Given the description of an element on the screen output the (x, y) to click on. 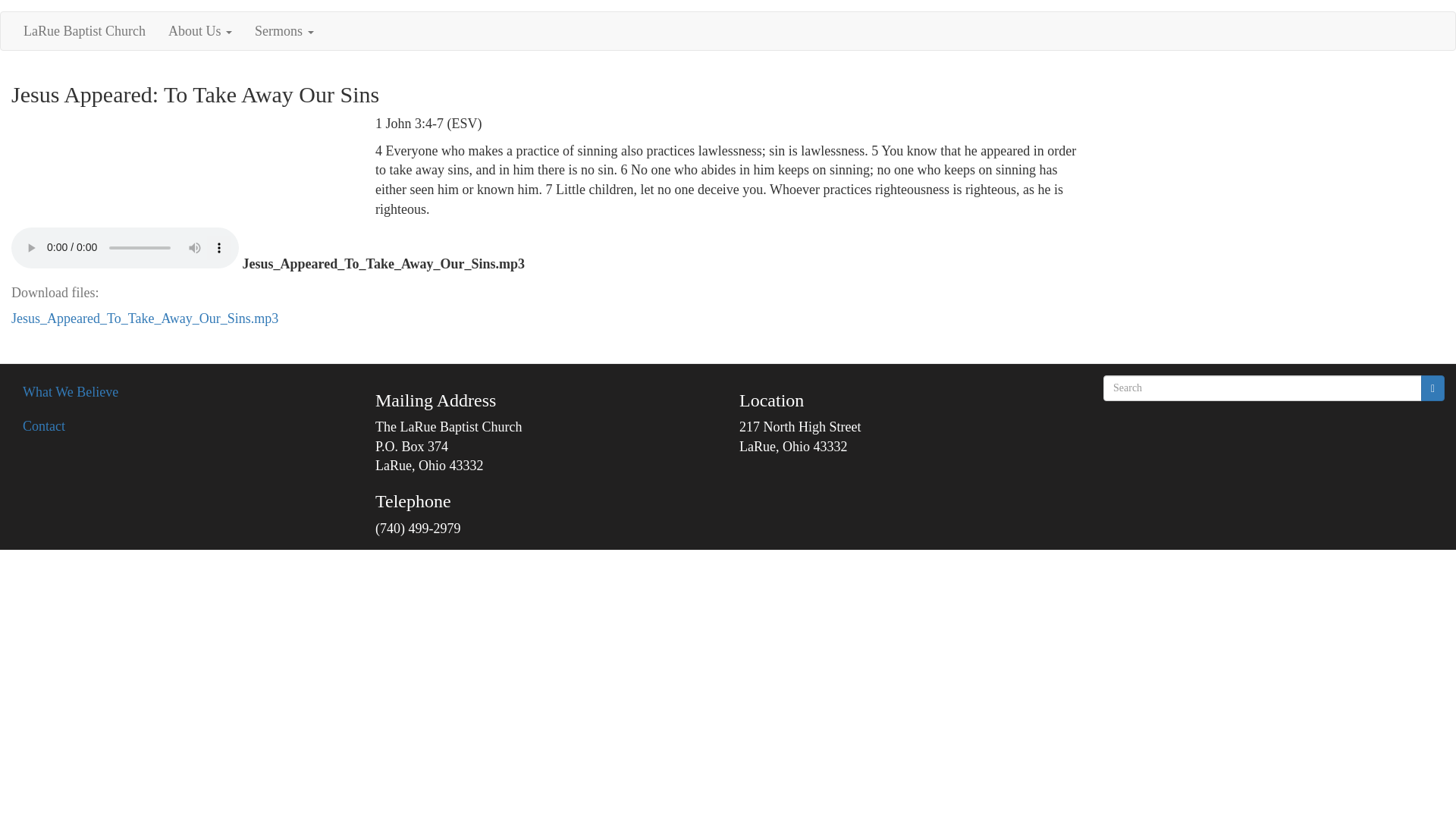
Home (84, 30)
Contact (181, 426)
Search (1432, 388)
LaRue Baptist Church (84, 30)
About Us (200, 30)
Enter the terms you wish to search for. (1262, 388)
Sermons (283, 30)
What We Believe (181, 392)
